Given the description of an element on the screen output the (x, y) to click on. 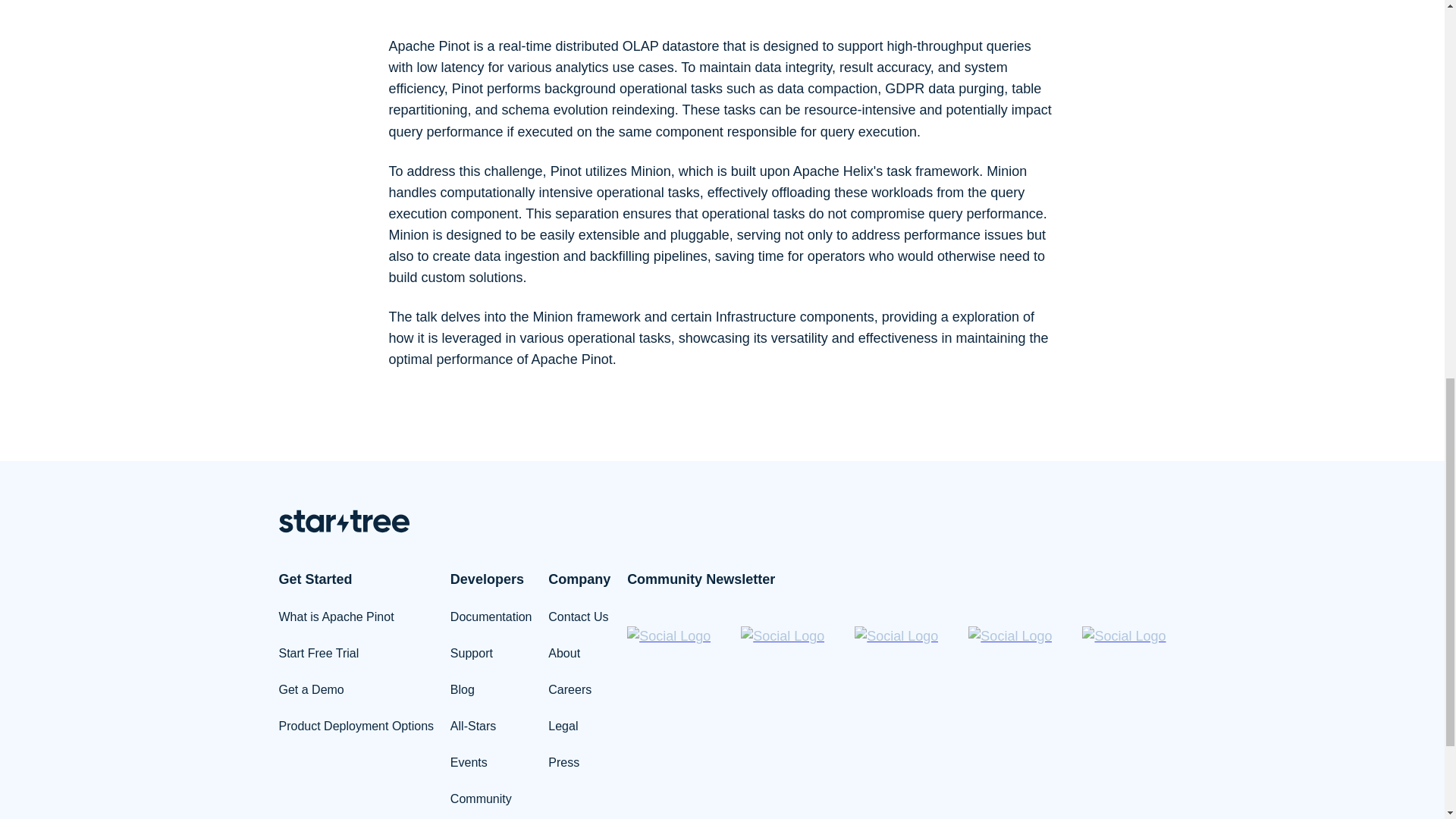
Product Deployment Options (356, 725)
About (563, 653)
Community (480, 798)
What is Apache Pinot (336, 616)
Start Free Trial (319, 653)
Documentation (490, 616)
Get a Demo (311, 689)
Events (468, 762)
Contact Us (578, 616)
All-Stars (472, 725)
Blog (461, 689)
Support (471, 653)
